Given the description of an element on the screen output the (x, y) to click on. 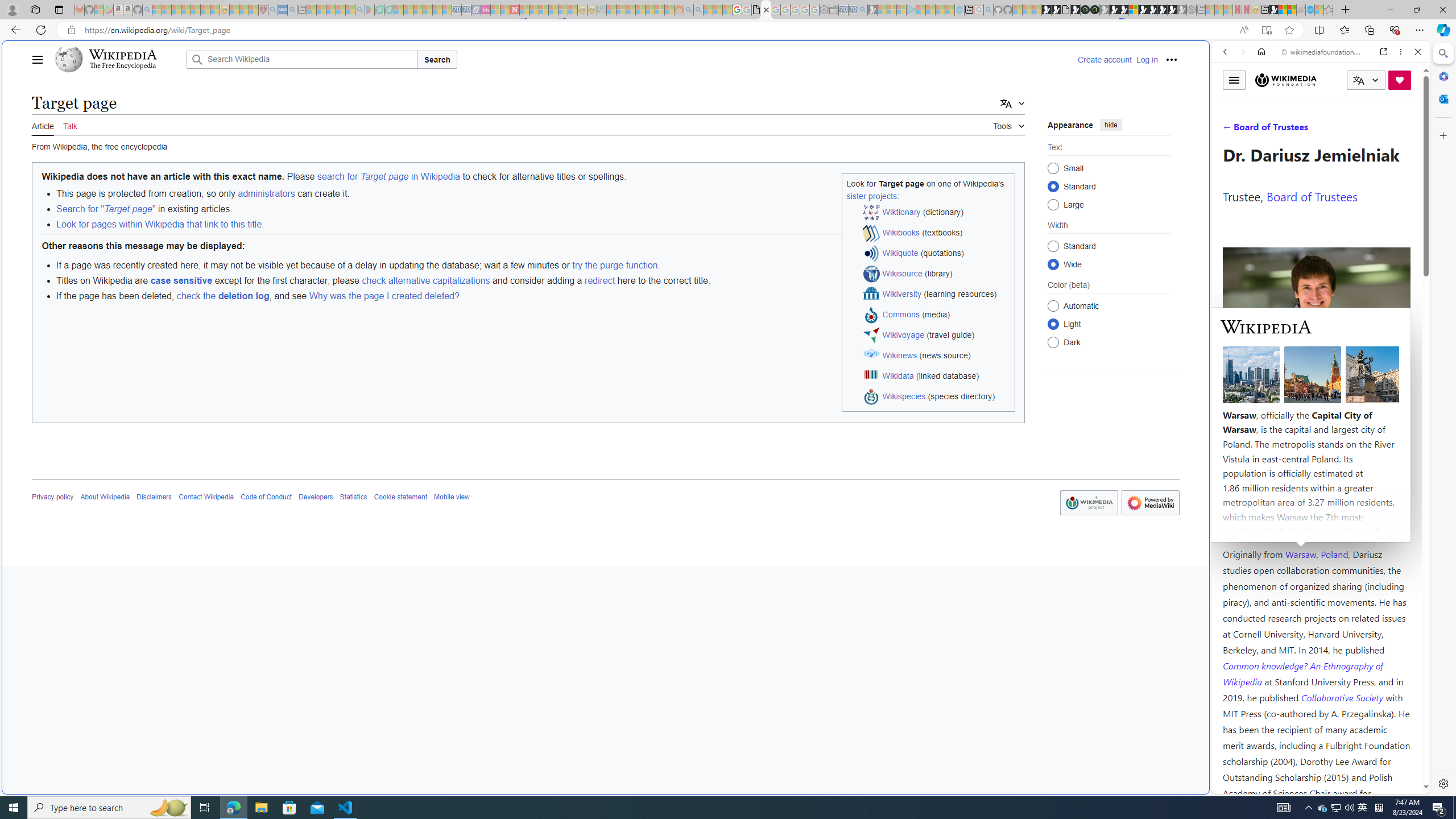
Wikivoyage (travel guide) (936, 335)
New Report Confirms 2023 Was Record Hot | Watch - Sleeping (195, 9)
Kinda Frugal - MSN - Sleeping (649, 9)
check alternative capitalizations (425, 280)
AutomationID: footer-copyrightico (1088, 502)
Side bar (1443, 418)
github - Search - Sleeping (988, 9)
Search or enter web address (922, 108)
Mobile view (451, 496)
Developers (315, 497)
Wiktionary (dictionary) (936, 212)
Preferences (1403, 129)
